Given the description of an element on the screen output the (x, y) to click on. 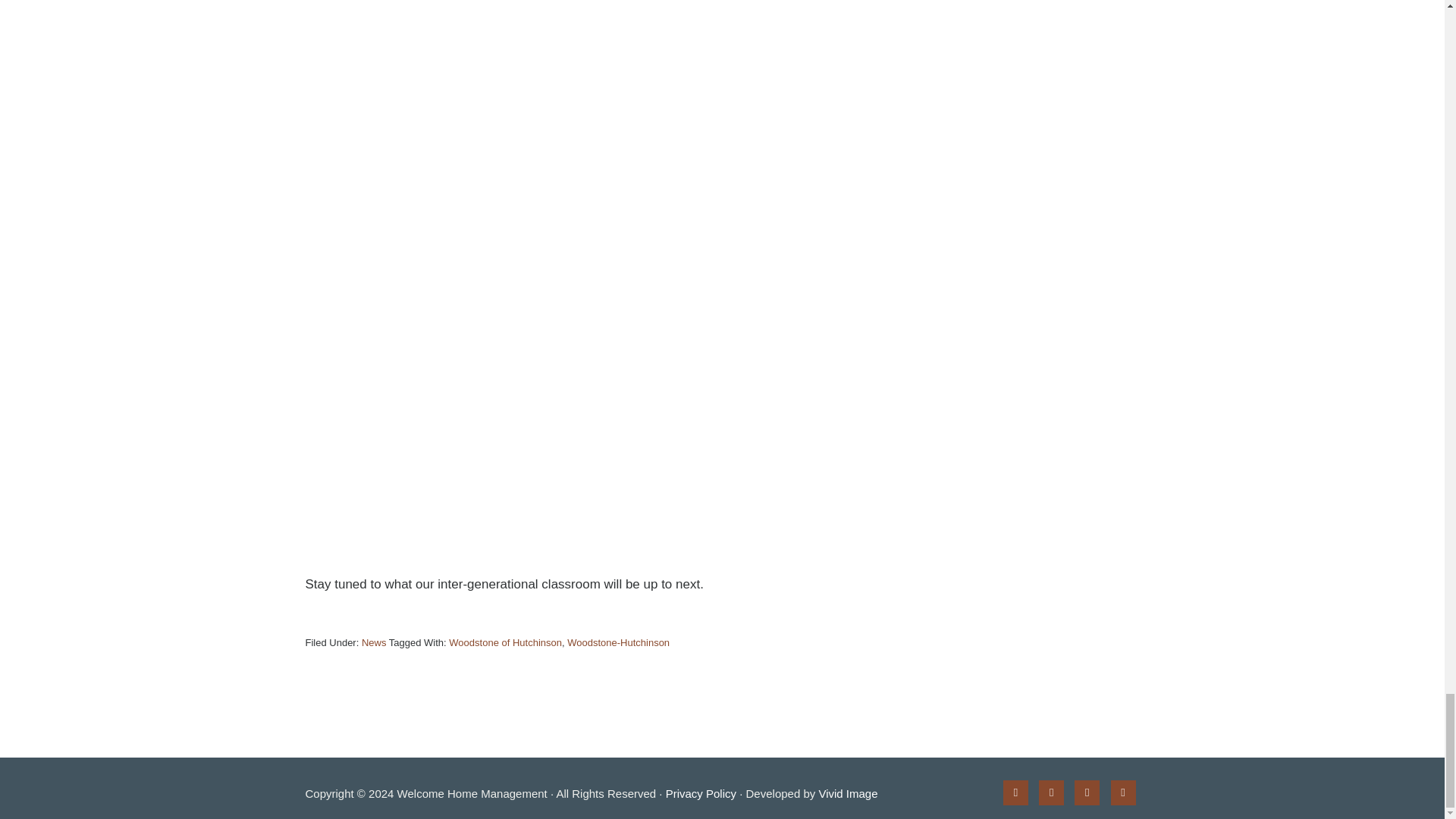
Vivid Image (847, 793)
Woodstone of Hutchinson (505, 642)
Privacy Policy (700, 793)
News (374, 642)
Woodstone-Hutchinson (618, 642)
